Given the description of an element on the screen output the (x, y) to click on. 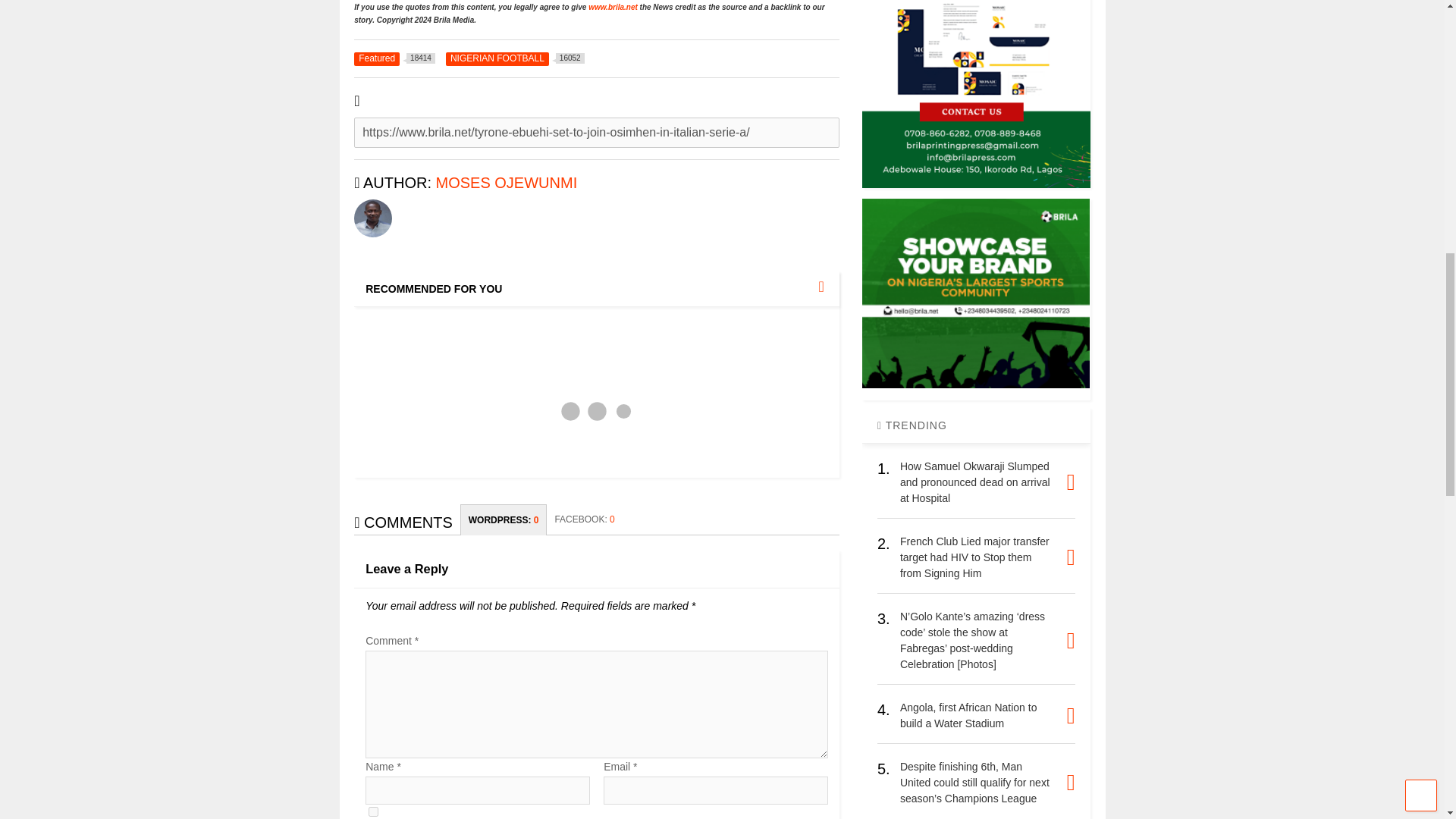
yes (373, 811)
author profile (506, 182)
